Given the description of an element on the screen output the (x, y) to click on. 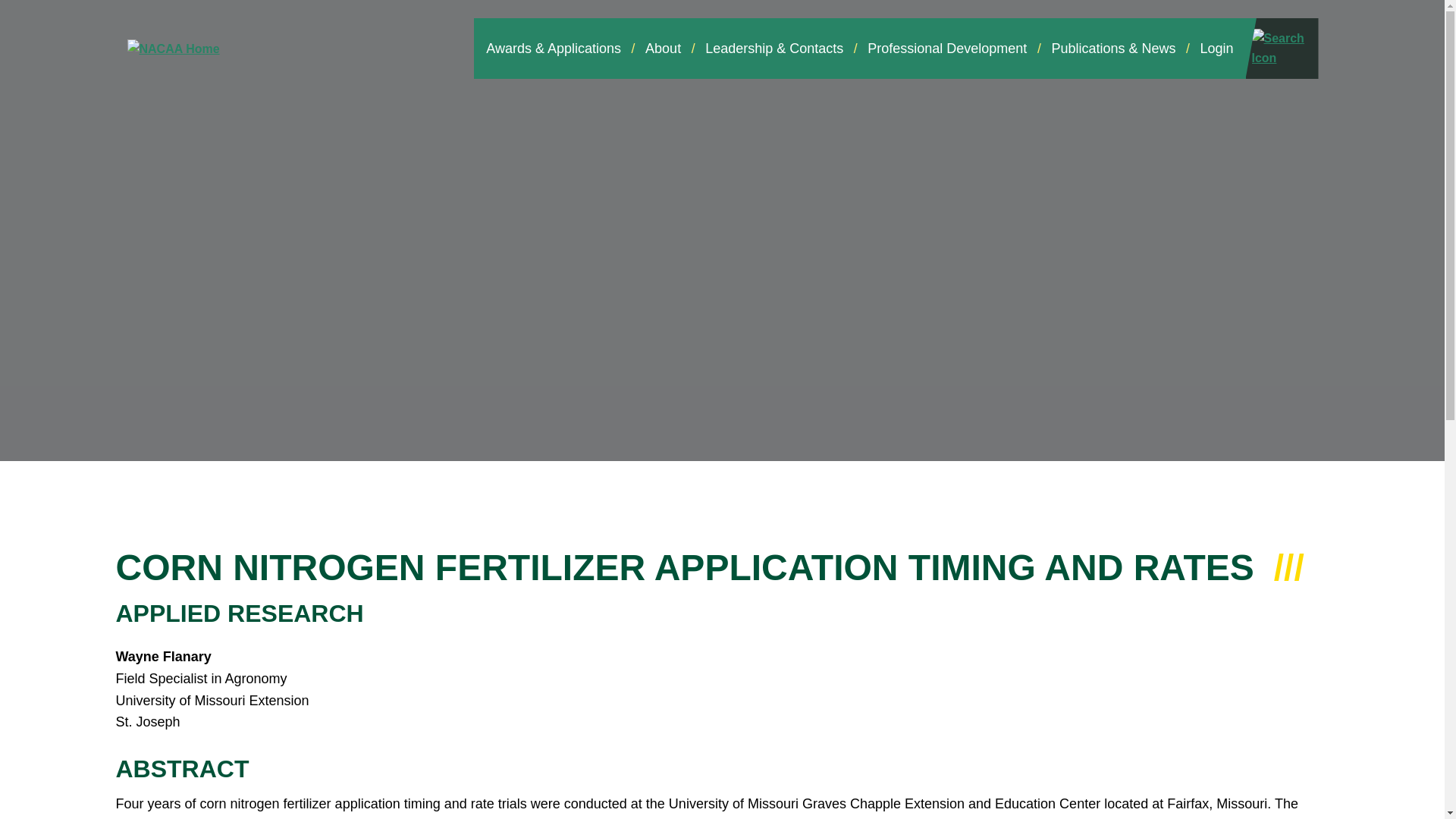
About (663, 48)
